Given the description of an element on the screen output the (x, y) to click on. 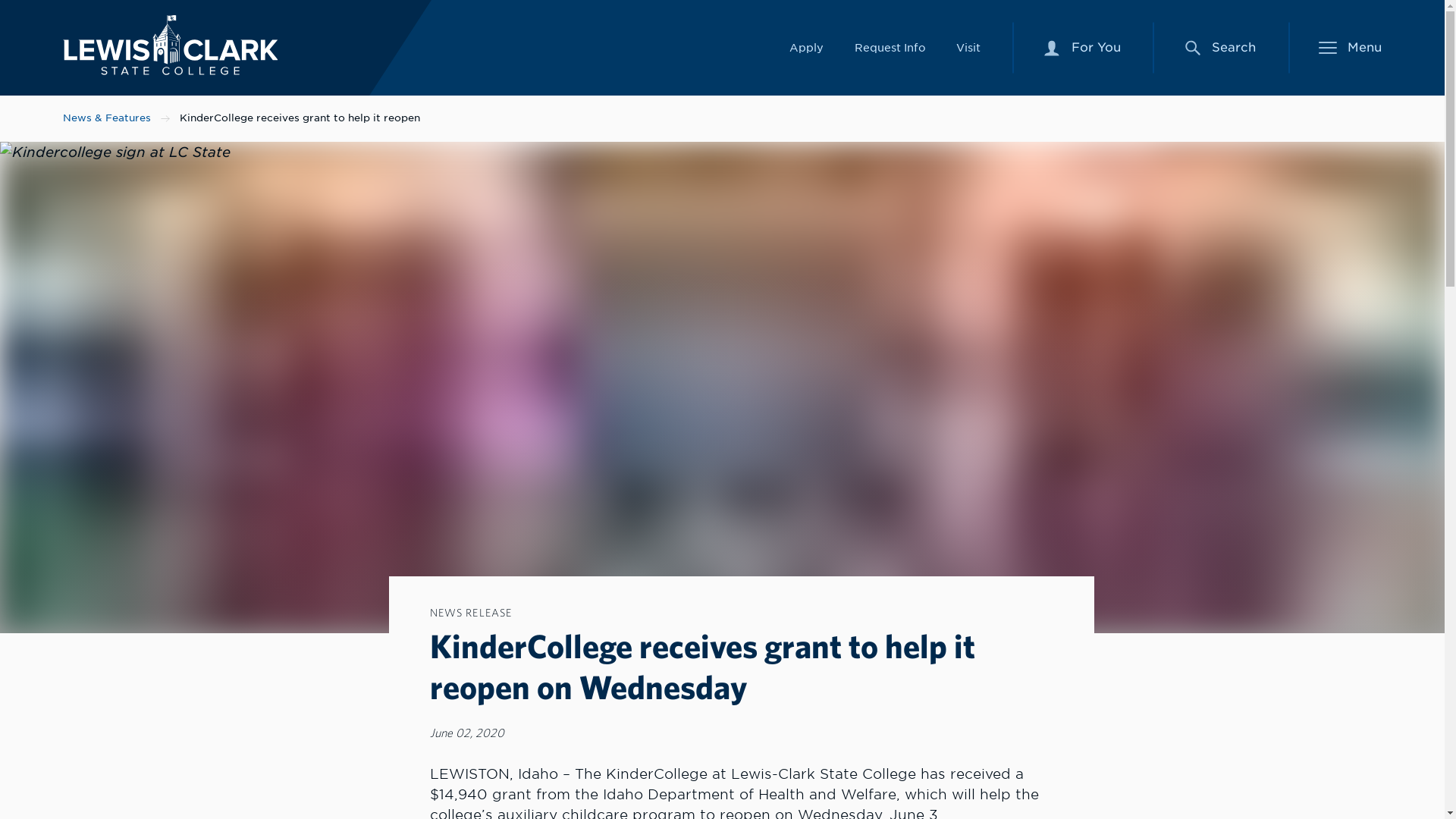
search-find--solid (1082, 47)
Visit (1191, 47)
Request Info (967, 46)
Lewis-Clark State College (888, 46)
Apply (170, 45)
user--solid (806, 46)
